Given the description of an element on the screen output the (x, y) to click on. 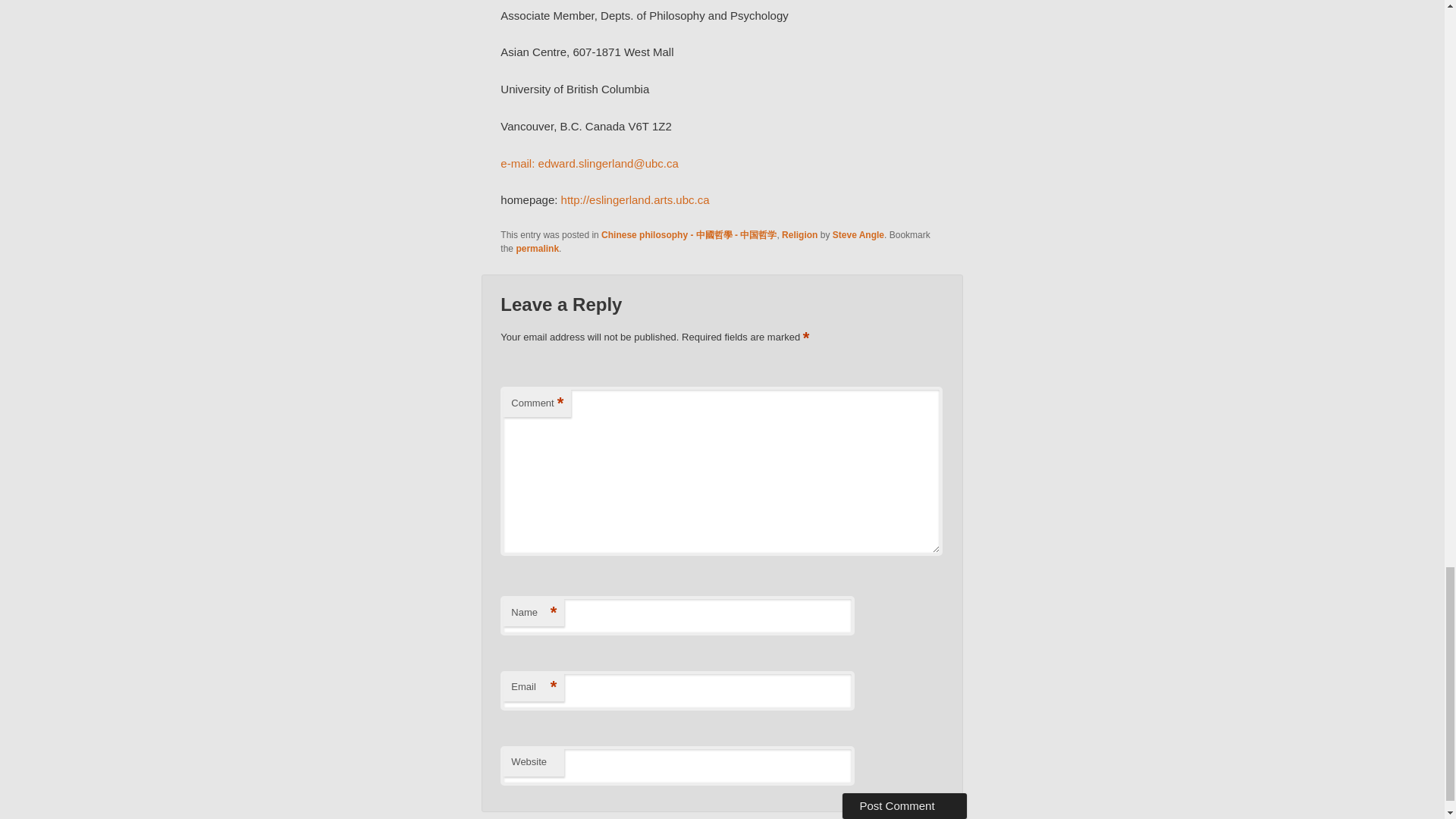
permalink (537, 248)
Steve Angle (857, 235)
Permalink to Database of Religious History (537, 248)
Religion (798, 235)
